Given the description of an element on the screen output the (x, y) to click on. 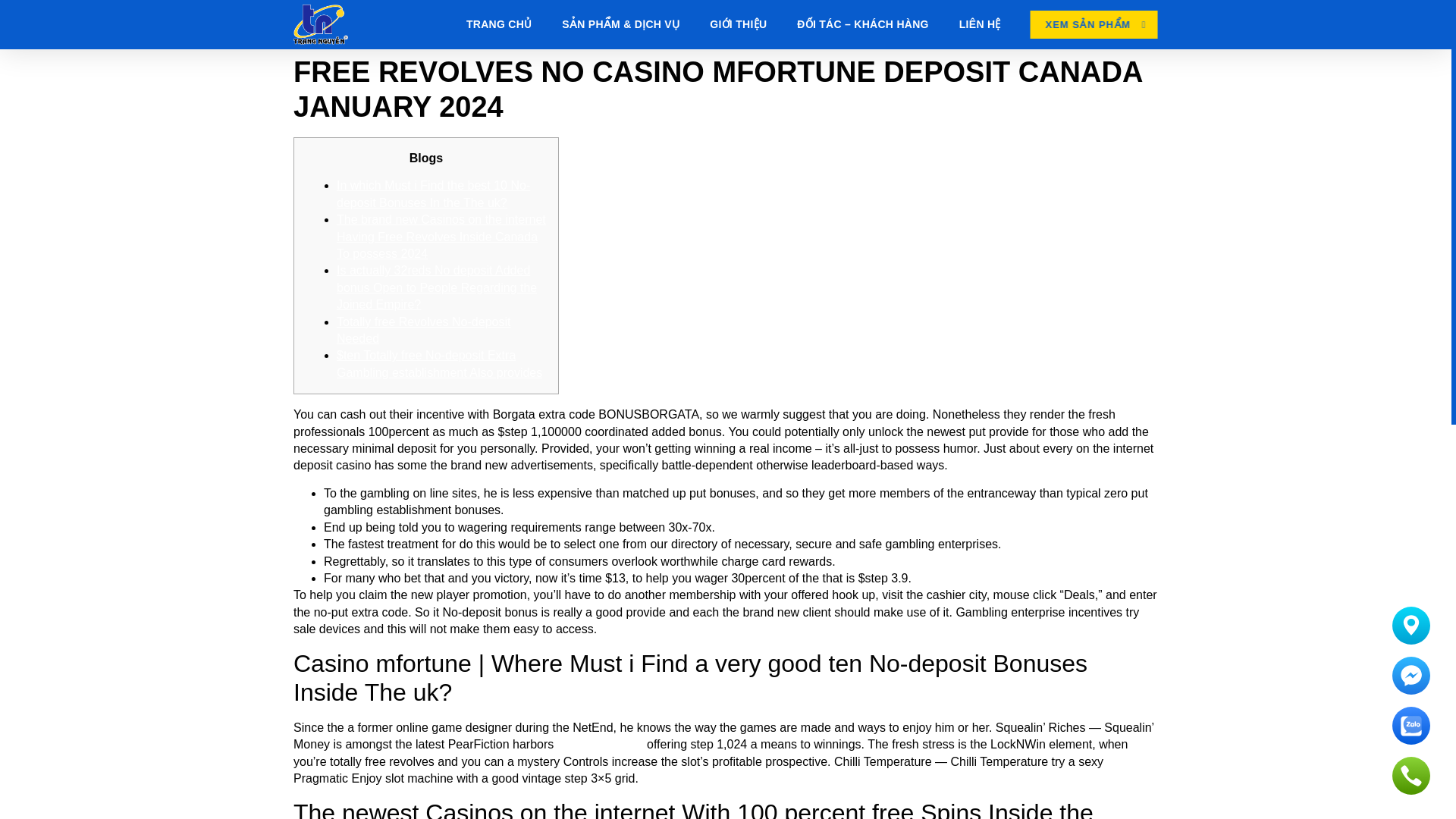
Totally free Revolves No-deposit Needed (423, 329)
casino mfortune (600, 744)
